Given the description of an element on the screen output the (x, y) to click on. 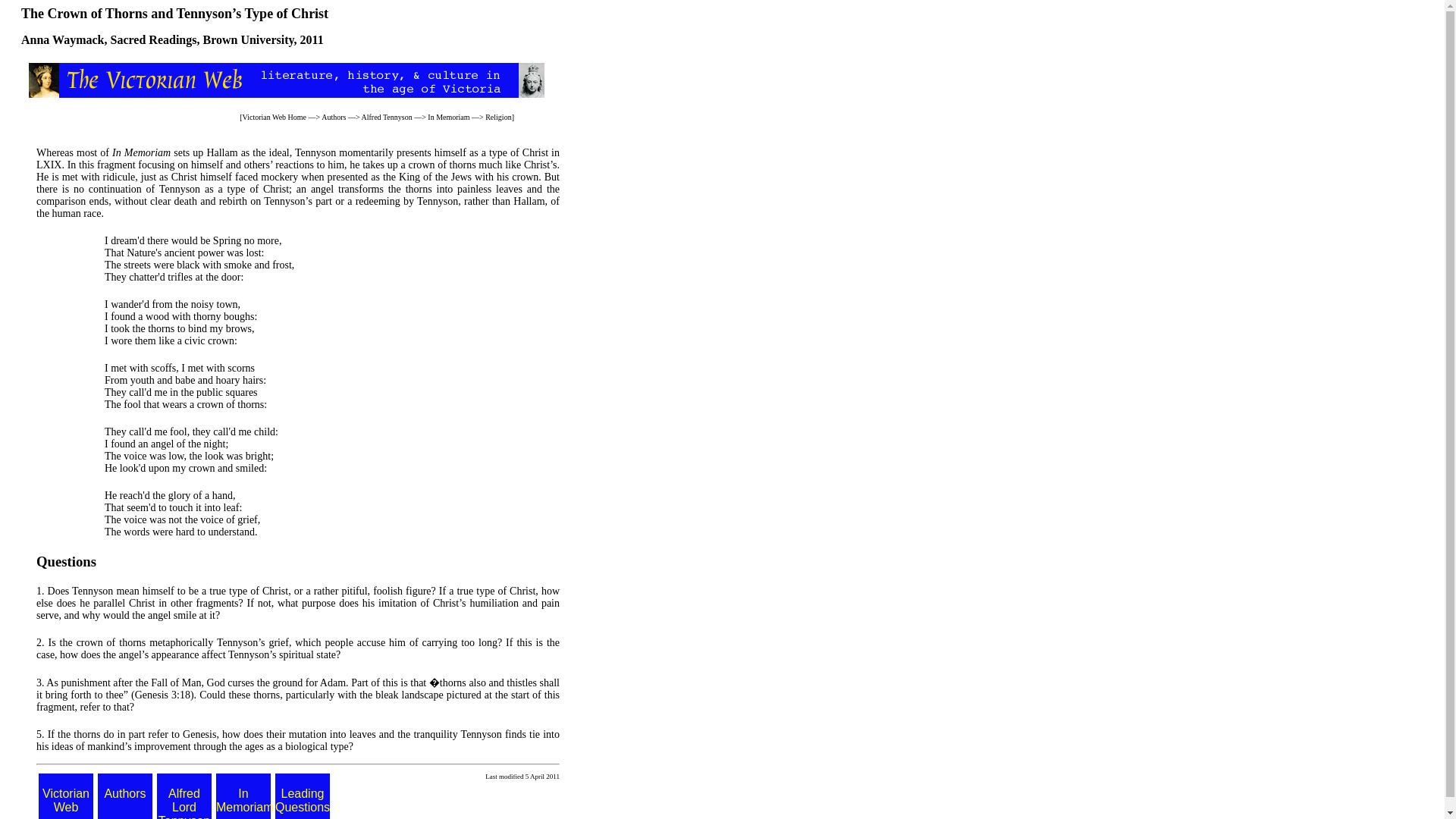
Alfred Tennyson (386, 117)
Authors (333, 117)
Religion (497, 117)
In Memoriam (448, 117)
Victorian Web Home (275, 117)
Sacred Readings (153, 39)
